Given the description of an element on the screen output the (x, y) to click on. 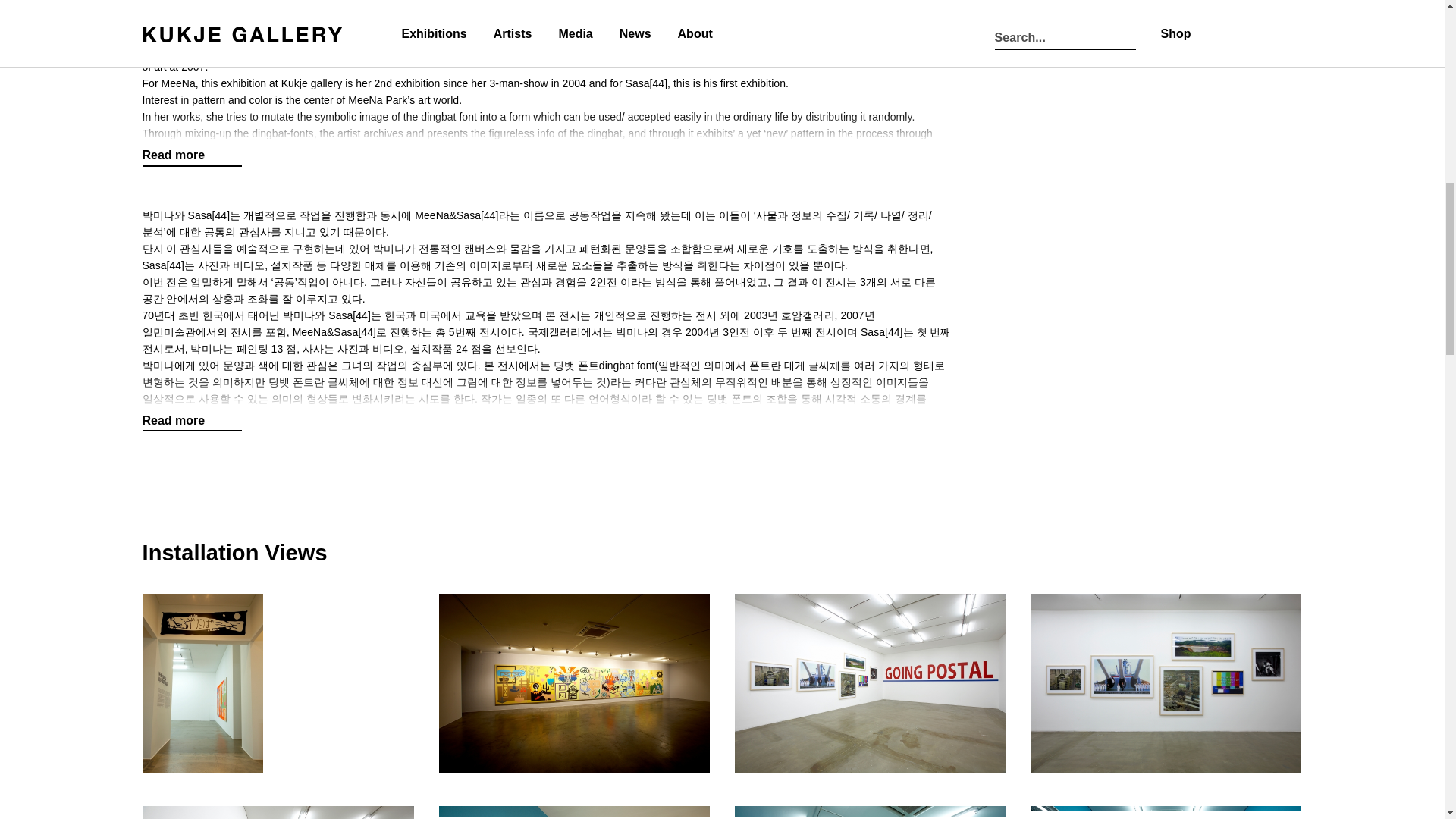
1353 (574, 811)
1351 (1166, 682)
1350 (870, 682)
1349 (574, 682)
Read more (192, 155)
Read more (192, 421)
1354 (870, 811)
1355 (1166, 811)
1348 (278, 682)
1352 (278, 811)
